Given the description of an element on the screen output the (x, y) to click on. 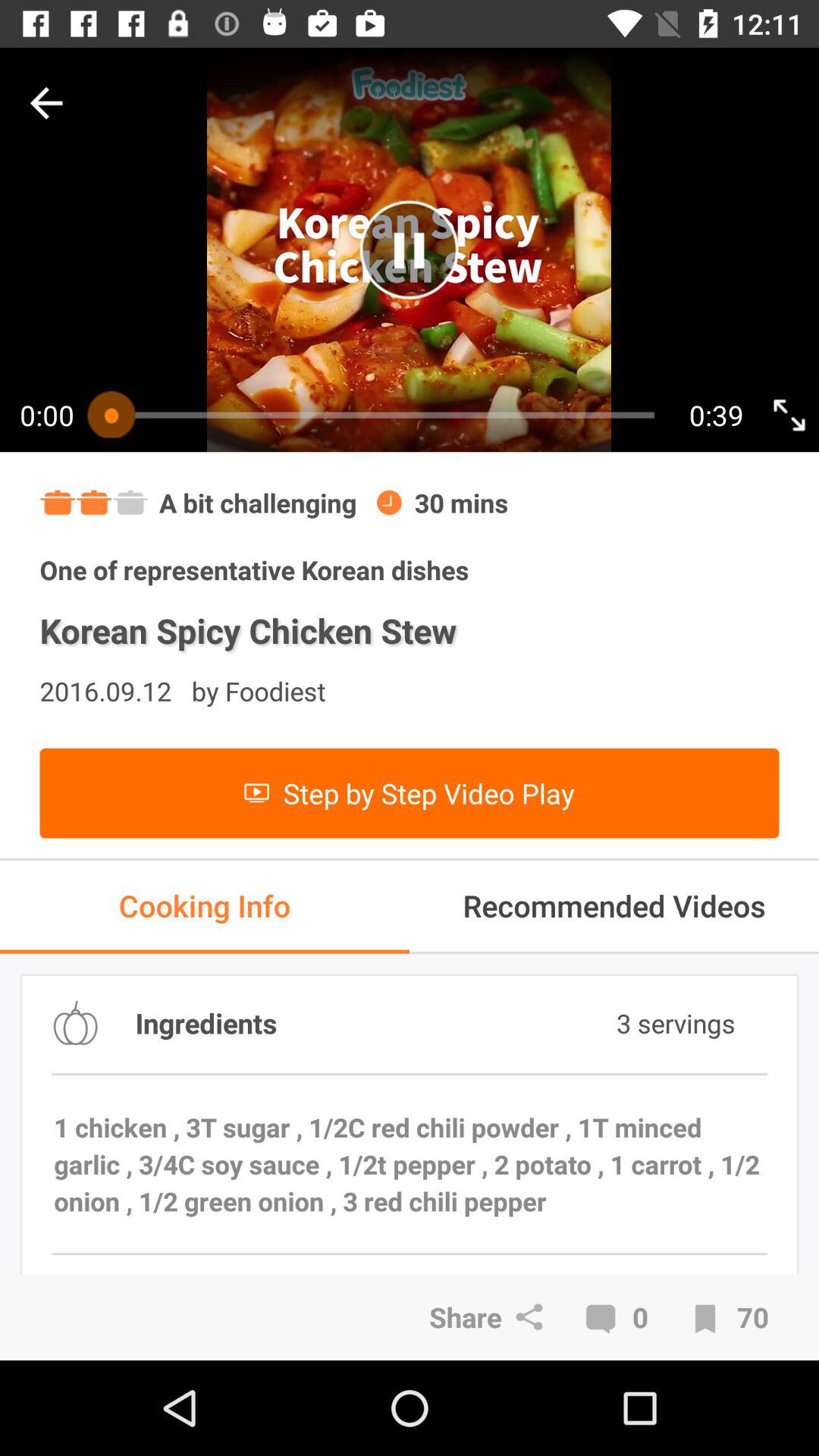
go back (46, 102)
